Given the description of an element on the screen output the (x, y) to click on. 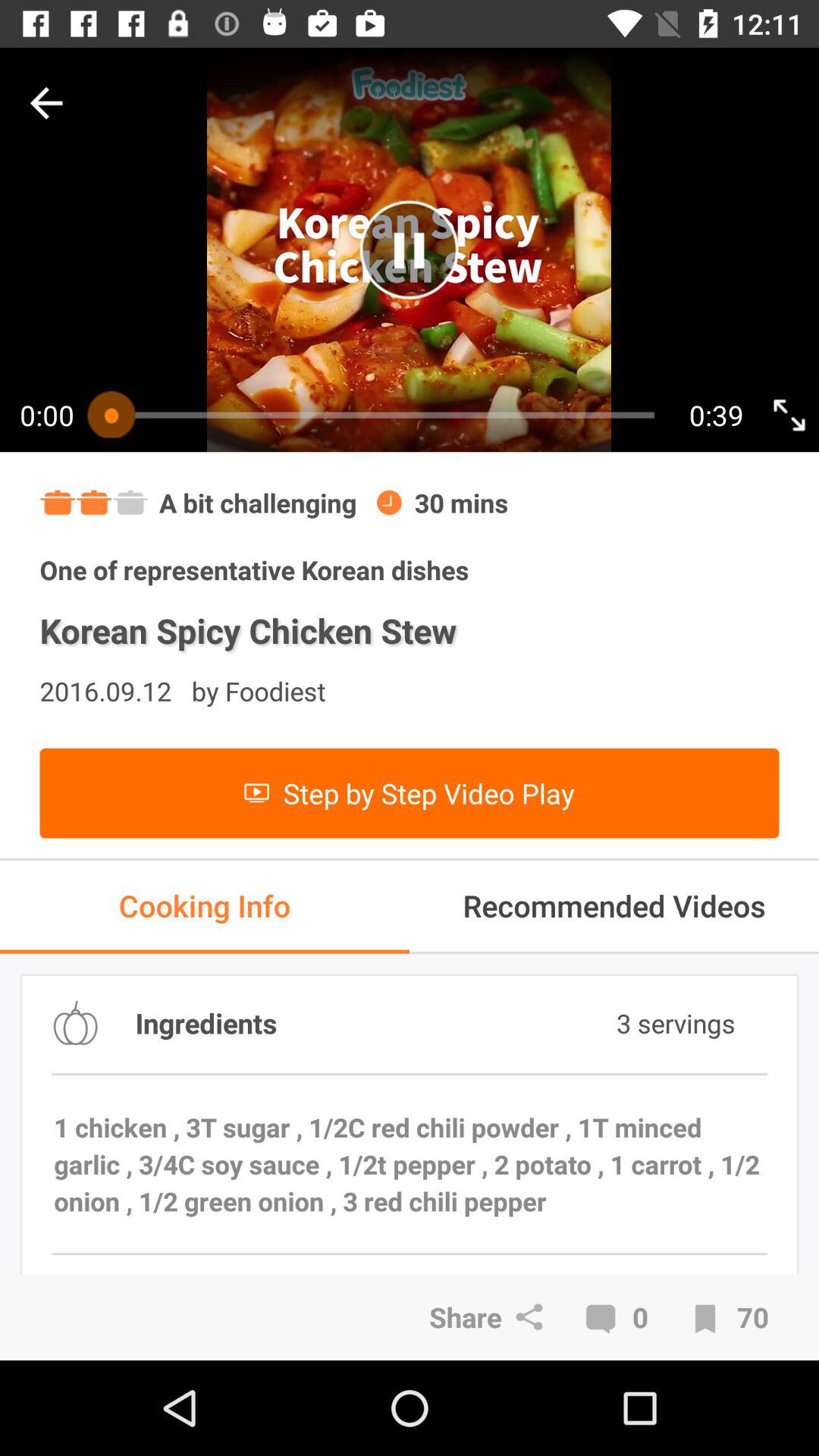
go back (46, 102)
